Given the description of an element on the screen output the (x, y) to click on. 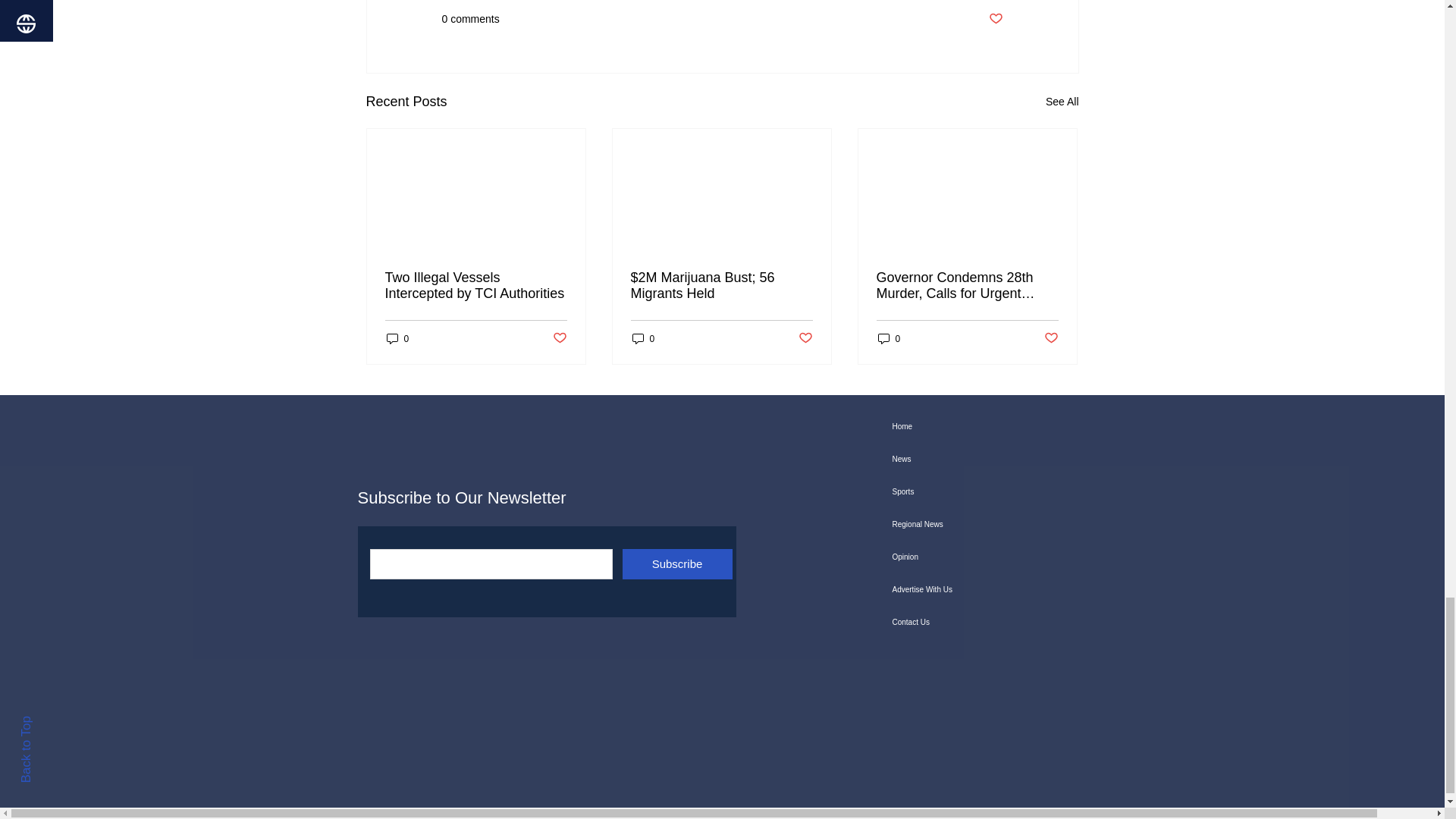
See All (1061, 101)
Two Illegal Vessels Intercepted by TCI Authorities (476, 286)
Post not marked as liked (558, 338)
0 (643, 338)
Post not marked as liked (804, 338)
Post not marked as liked (995, 19)
0 (397, 338)
